Given the description of an element on the screen output the (x, y) to click on. 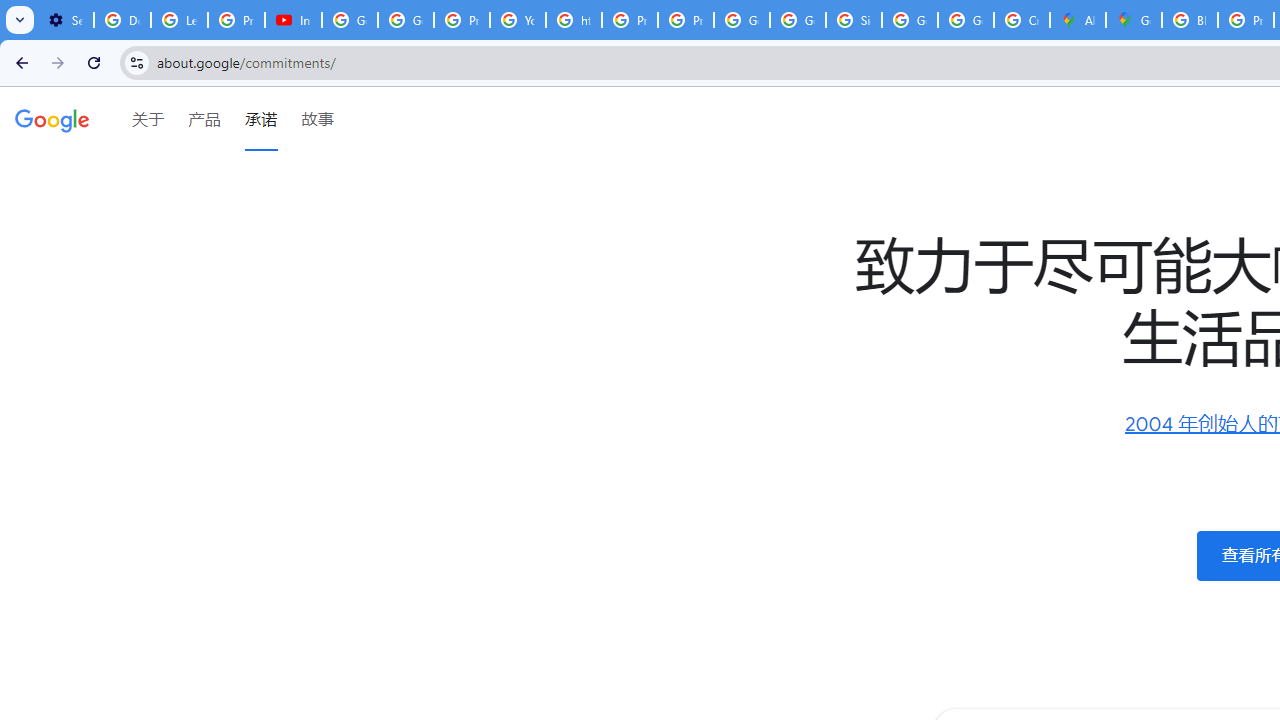
Delete photos & videos - Computer - Google Photos Help (122, 20)
Google Maps (1133, 20)
Google (52, 119)
https://scholar.google.com/ (573, 20)
Settings - Customize profile (65, 20)
Google Account Help (349, 20)
